Given the description of an element on the screen output the (x, y) to click on. 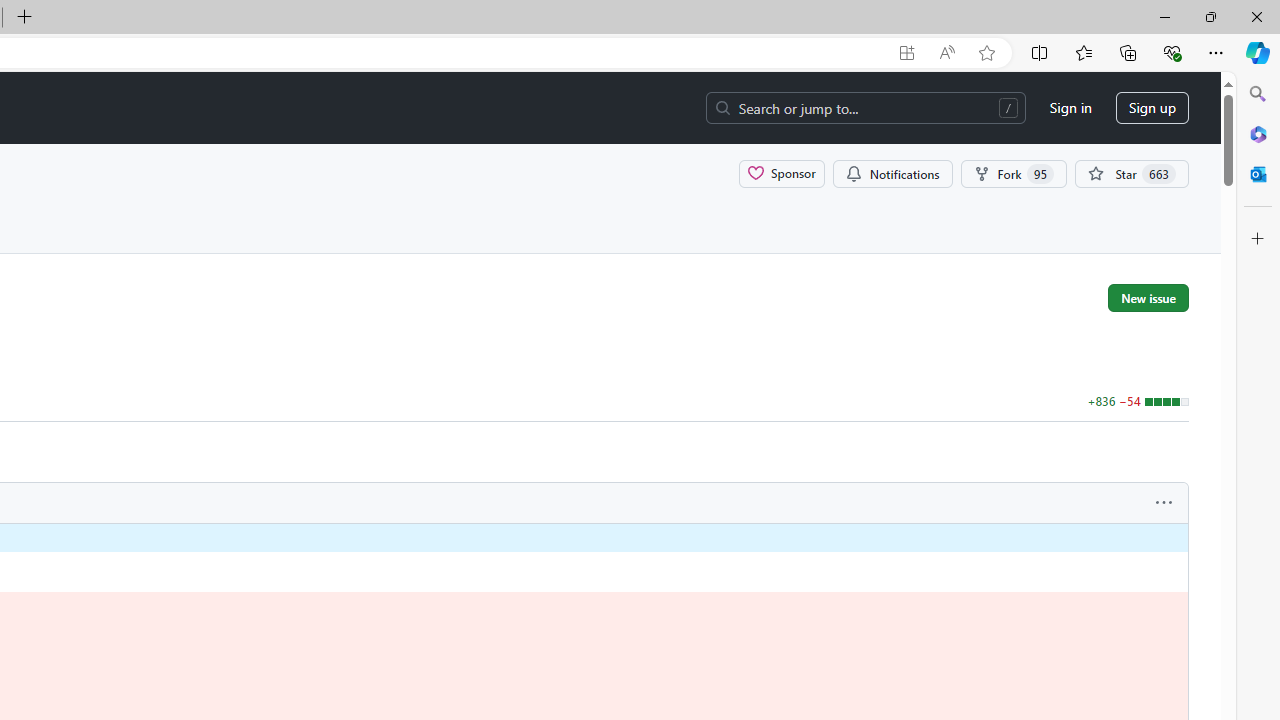
You must be signed in to star a repository (1132, 173)
Sponsor MajkiIT/polish-ads-filter (781, 173)
You must be signed in to change notification settings (892, 173)
Sign up (1152, 107)
